Given the description of an element on the screen output the (x, y) to click on. 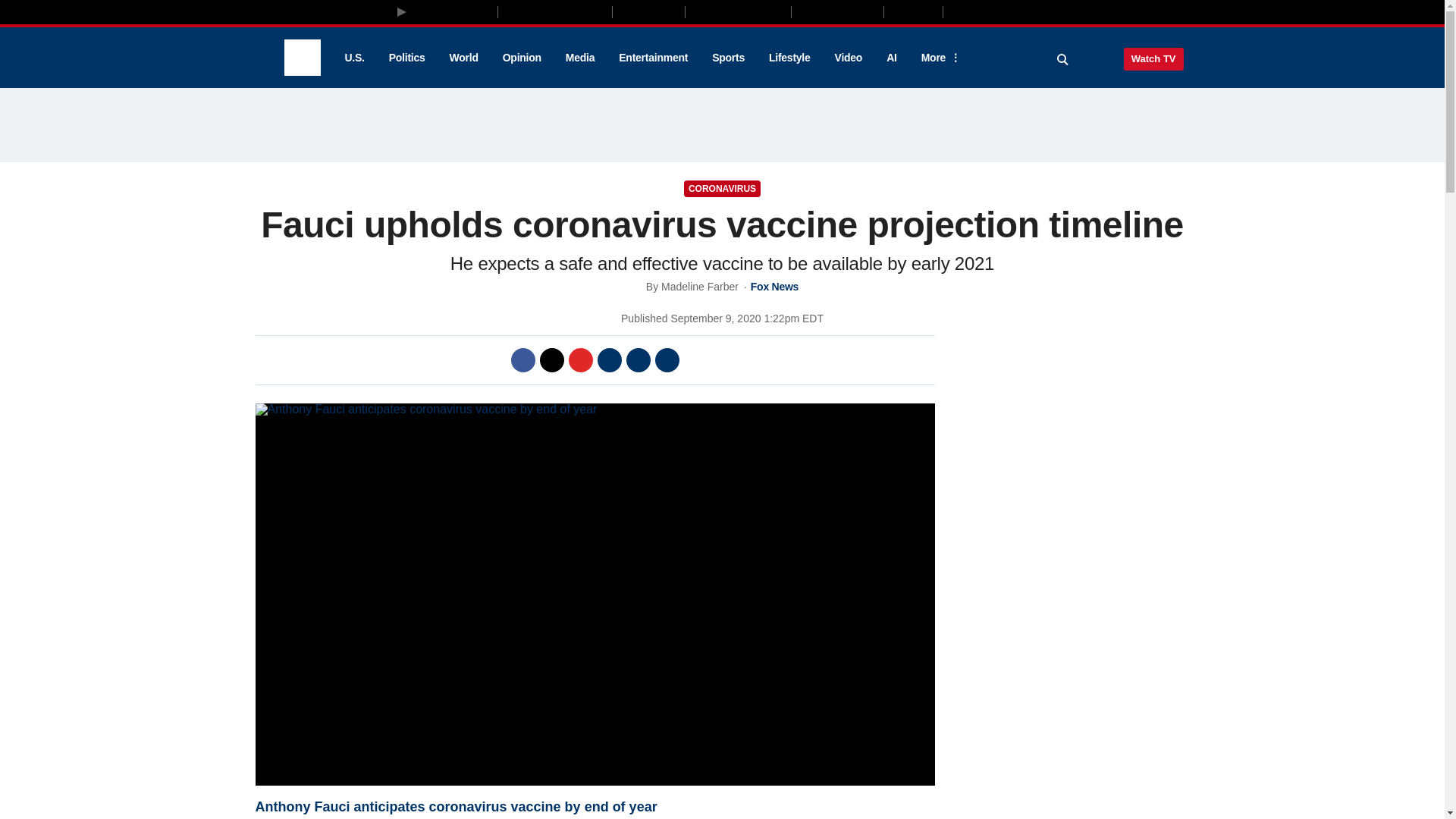
Opinion (521, 57)
Fox News (301, 57)
More (938, 57)
Fox Business (554, 11)
Lifestyle (789, 57)
Fox Weather (836, 11)
Media (580, 57)
AI (891, 57)
Politics (407, 57)
Fox News Audio (737, 11)
